Given the description of an element on the screen output the (x, y) to click on. 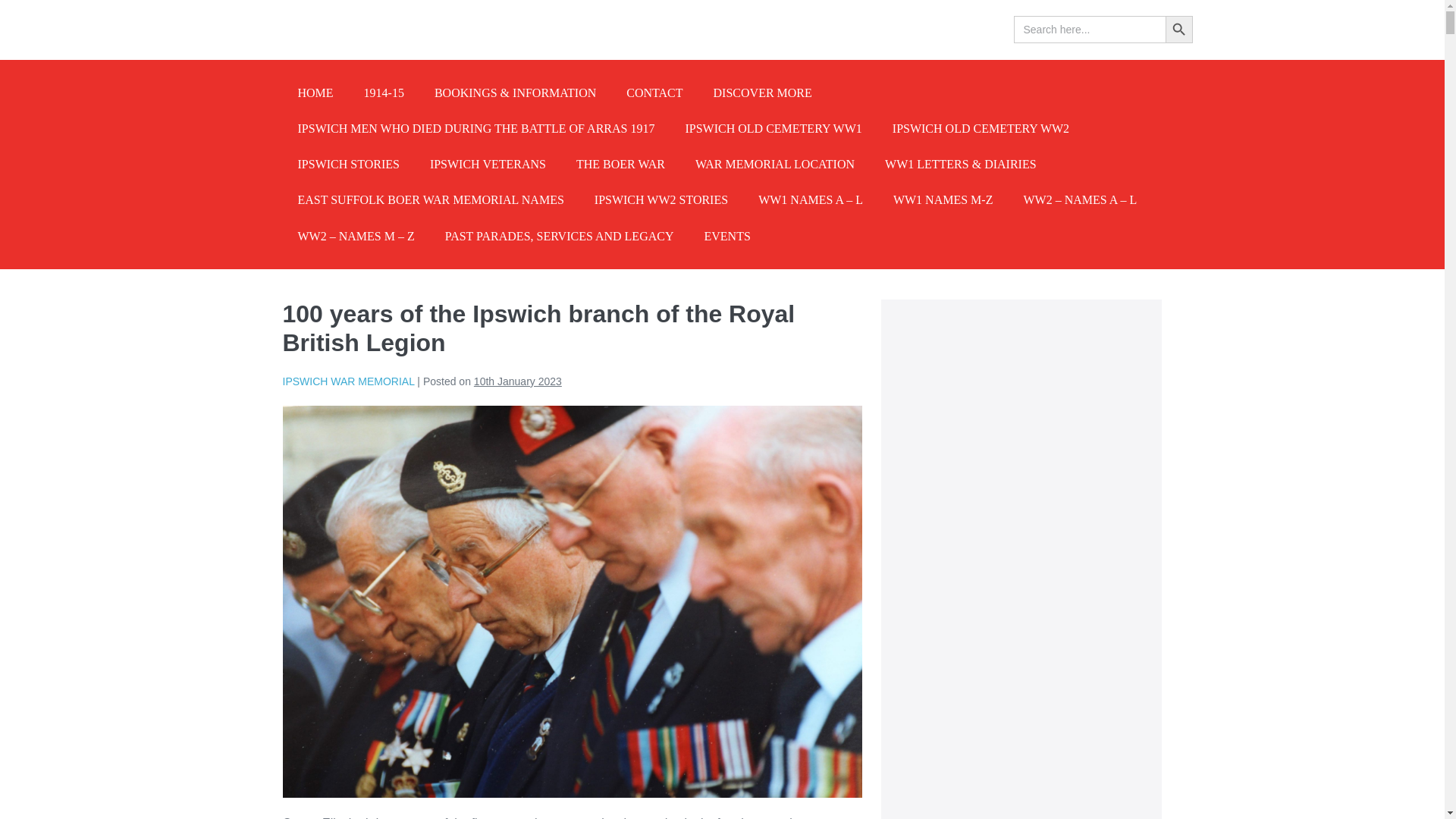
View all posts by IPSWICH WAR MEMORIAL (347, 381)
EVENTS (726, 235)
IPSWICH WW2 STORIES (660, 199)
1914-15 (384, 92)
DISCOVER MORE (762, 92)
IPSWICH MEN WHO DIED DURING THE BATTLE OF ARRAS 1917 (475, 128)
IPSWICH OLD CEMETERY WW1 (772, 128)
IPSWICH VETERANS (487, 163)
Search Button (1178, 29)
WAR MEMORIAL LOCATION (774, 163)
